Given the description of an element on the screen output the (x, y) to click on. 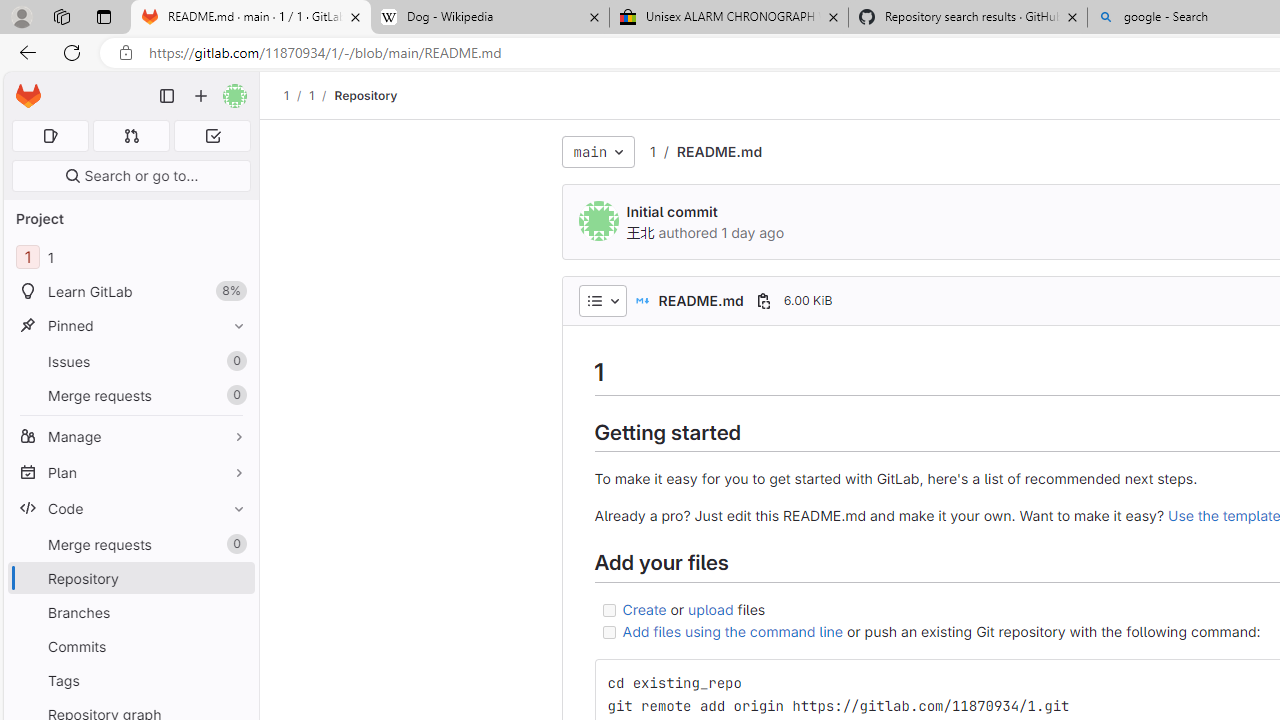
Copy file path (763, 300)
11 (130, 257)
Dog - Wikipedia (490, 17)
Unpin Issues (234, 361)
Issues0 (130, 361)
To-Do list 0 (212, 136)
Create (644, 608)
Homepage (27, 96)
